Given the description of an element on the screen output the (x, y) to click on. 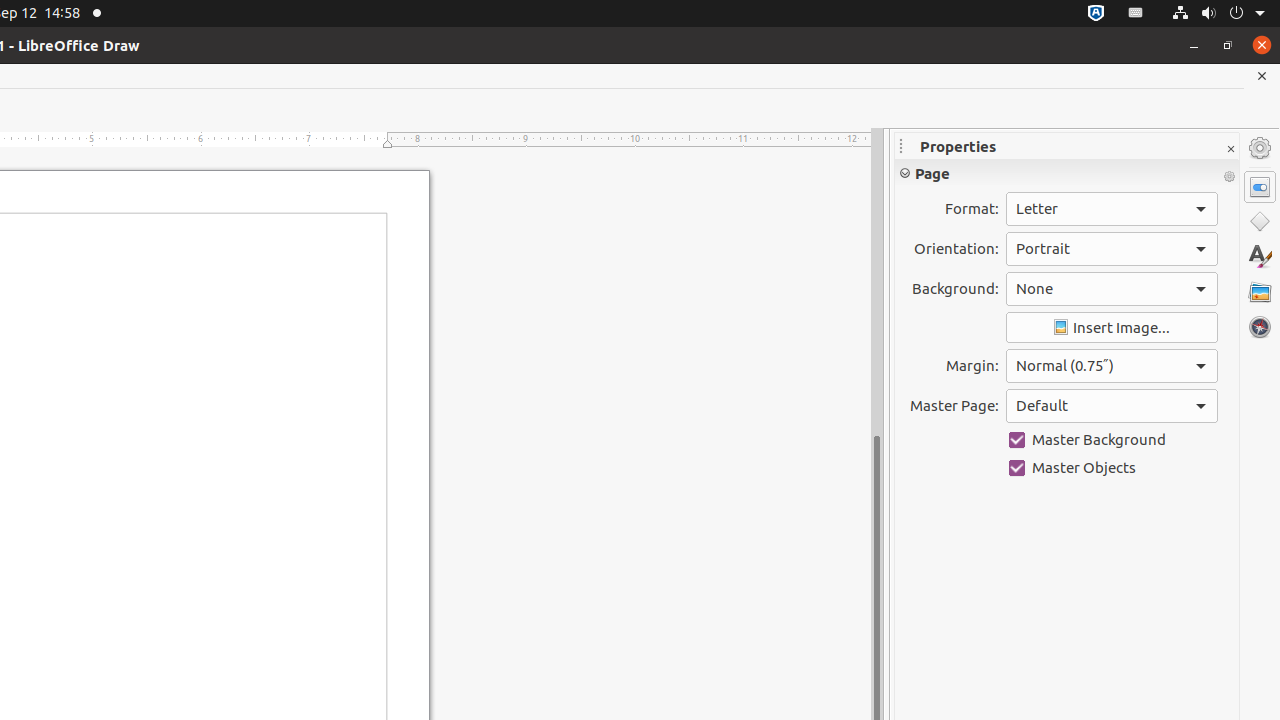
Margin: Element type: combo-box (1112, 366)
Orientation: Element type: combo-box (1112, 249)
